Given the description of an element on the screen output the (x, y) to click on. 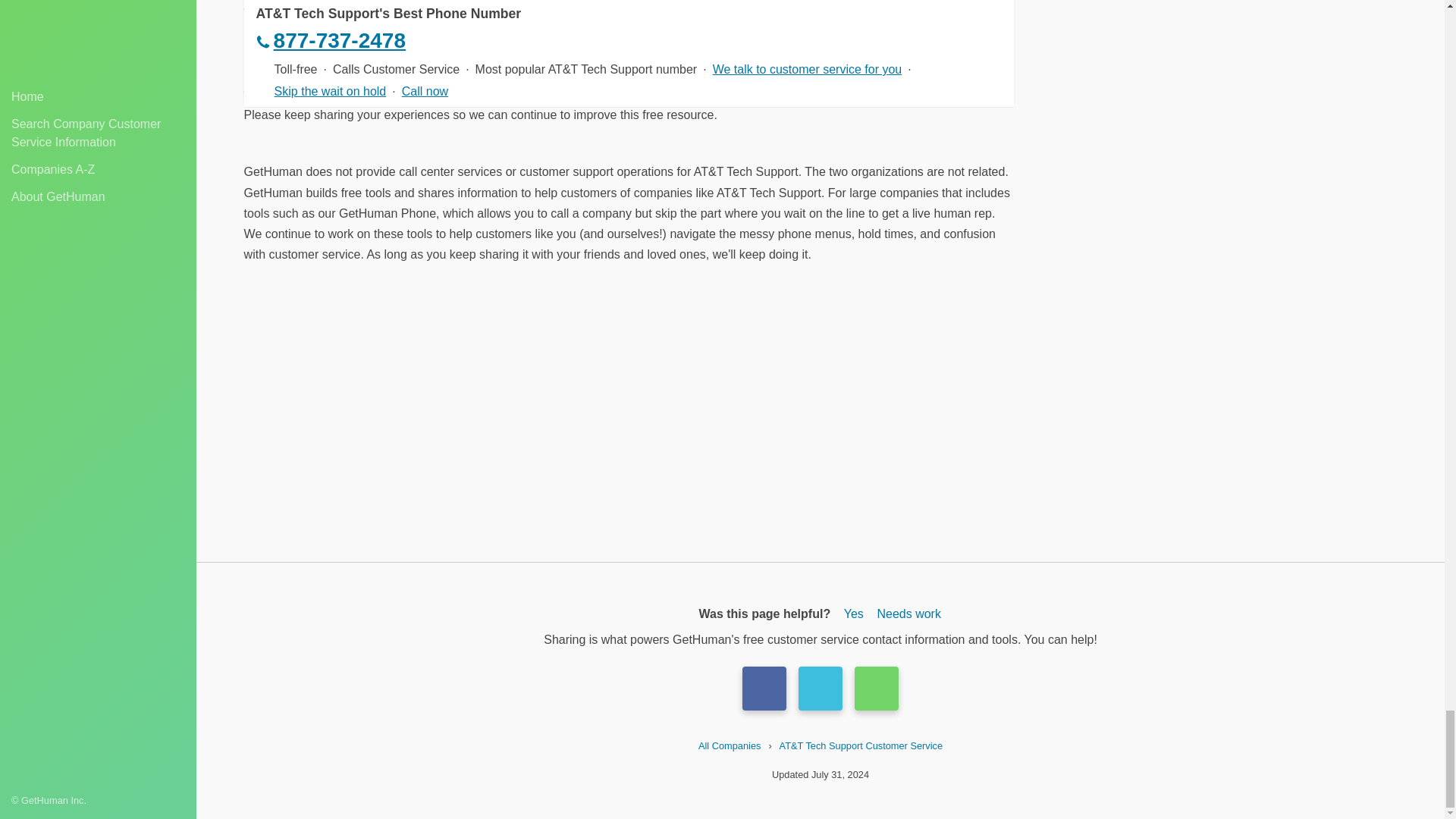
Share via Email (876, 688)
Share with Facebook (764, 688)
Share via Twitter (819, 688)
